Given the description of an element on the screen output the (x, y) to click on. 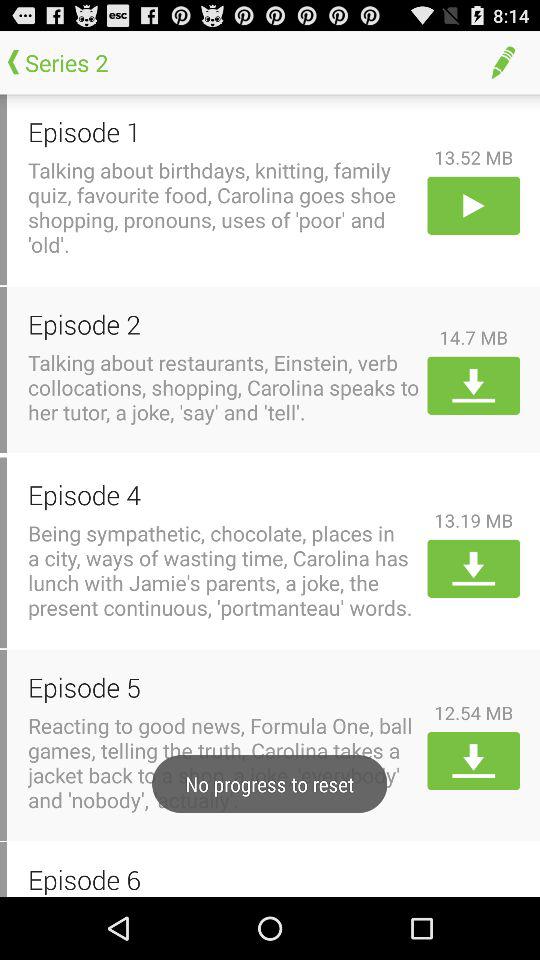
choose the app below the reacting to good item (224, 879)
